Given the description of an element on the screen output the (x, y) to click on. 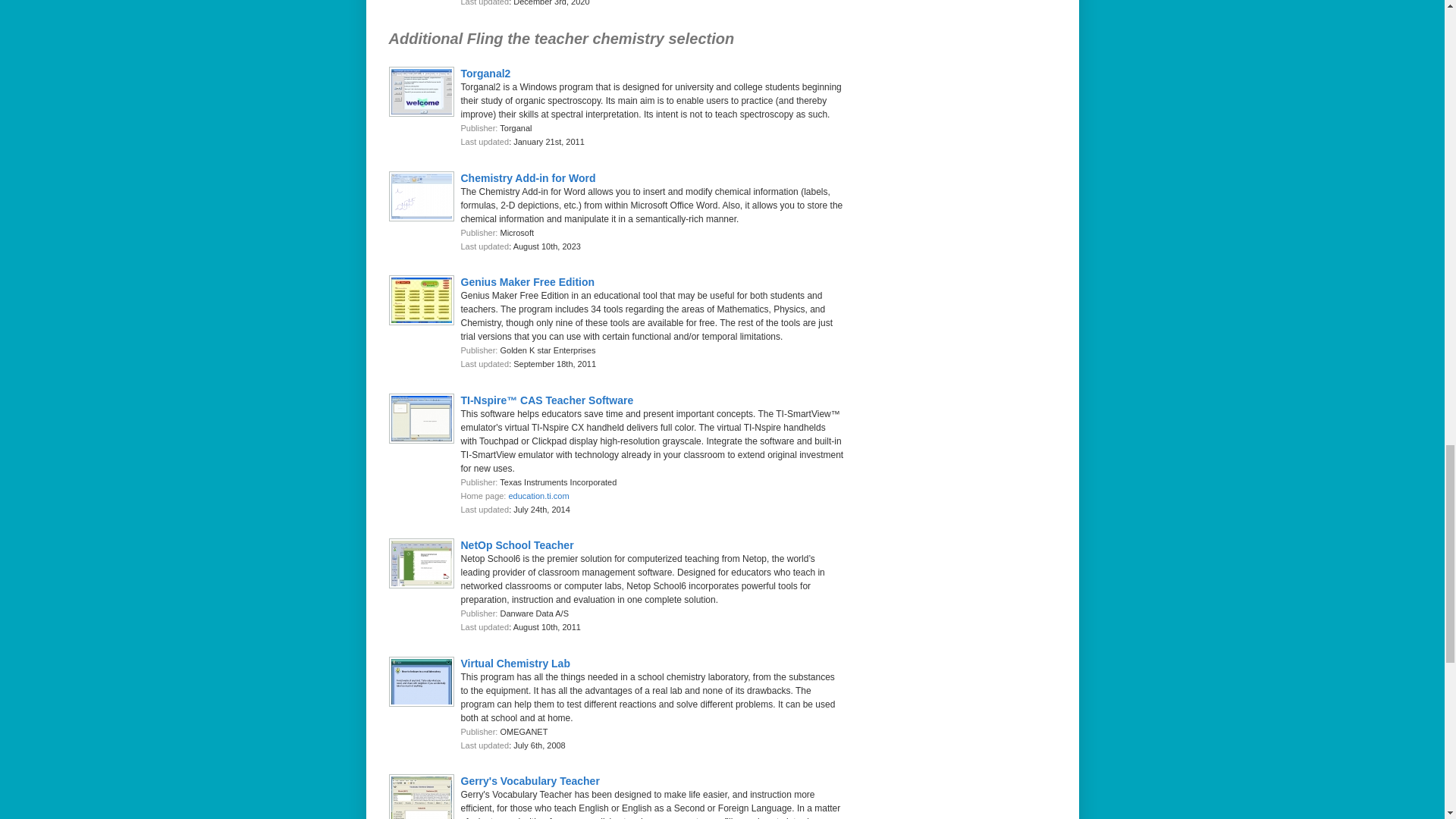
Torganal2 (486, 73)
